Given the description of an element on the screen output the (x, y) to click on. 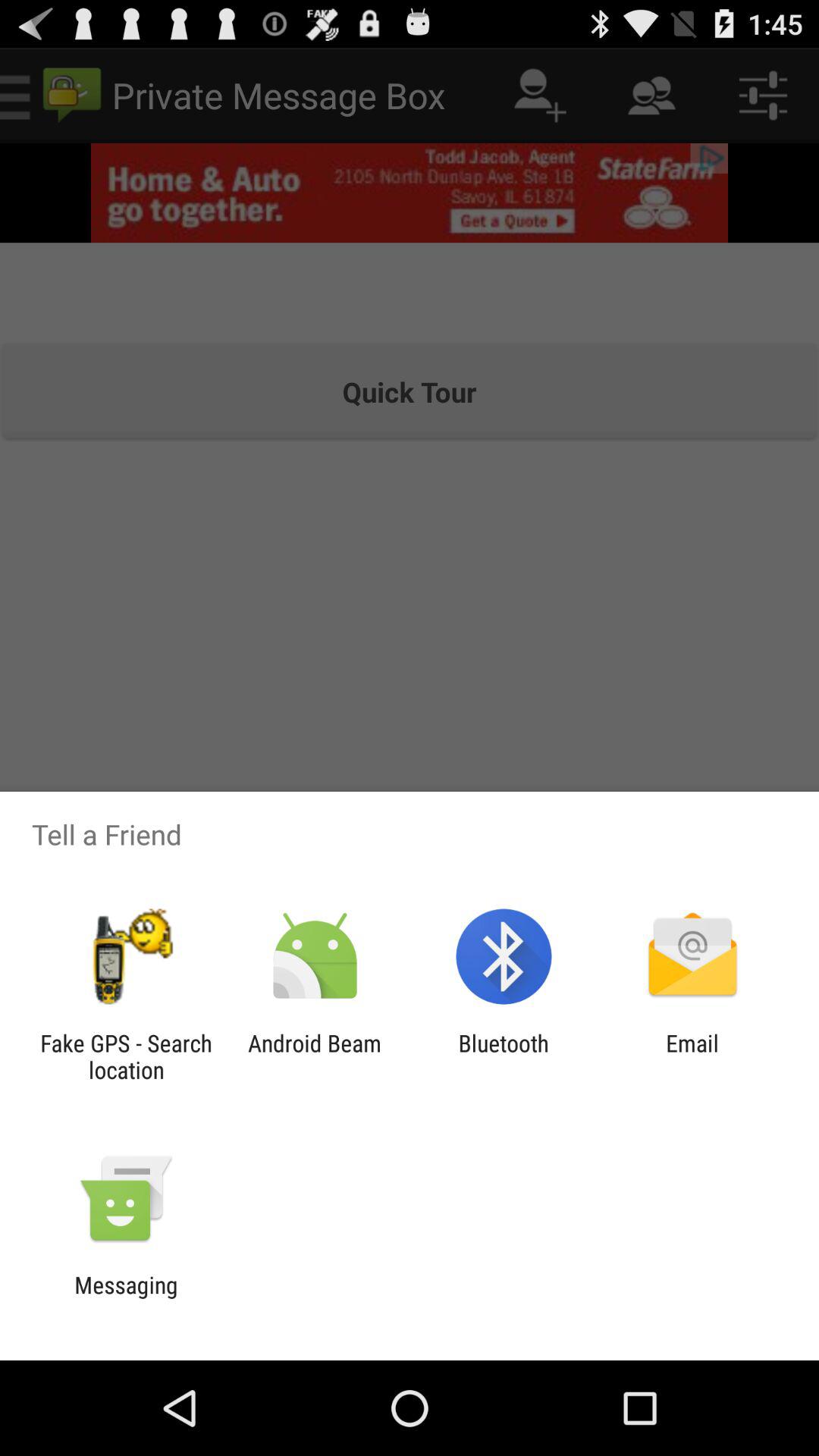
press email at the bottom right corner (692, 1056)
